Given the description of an element on the screen output the (x, y) to click on. 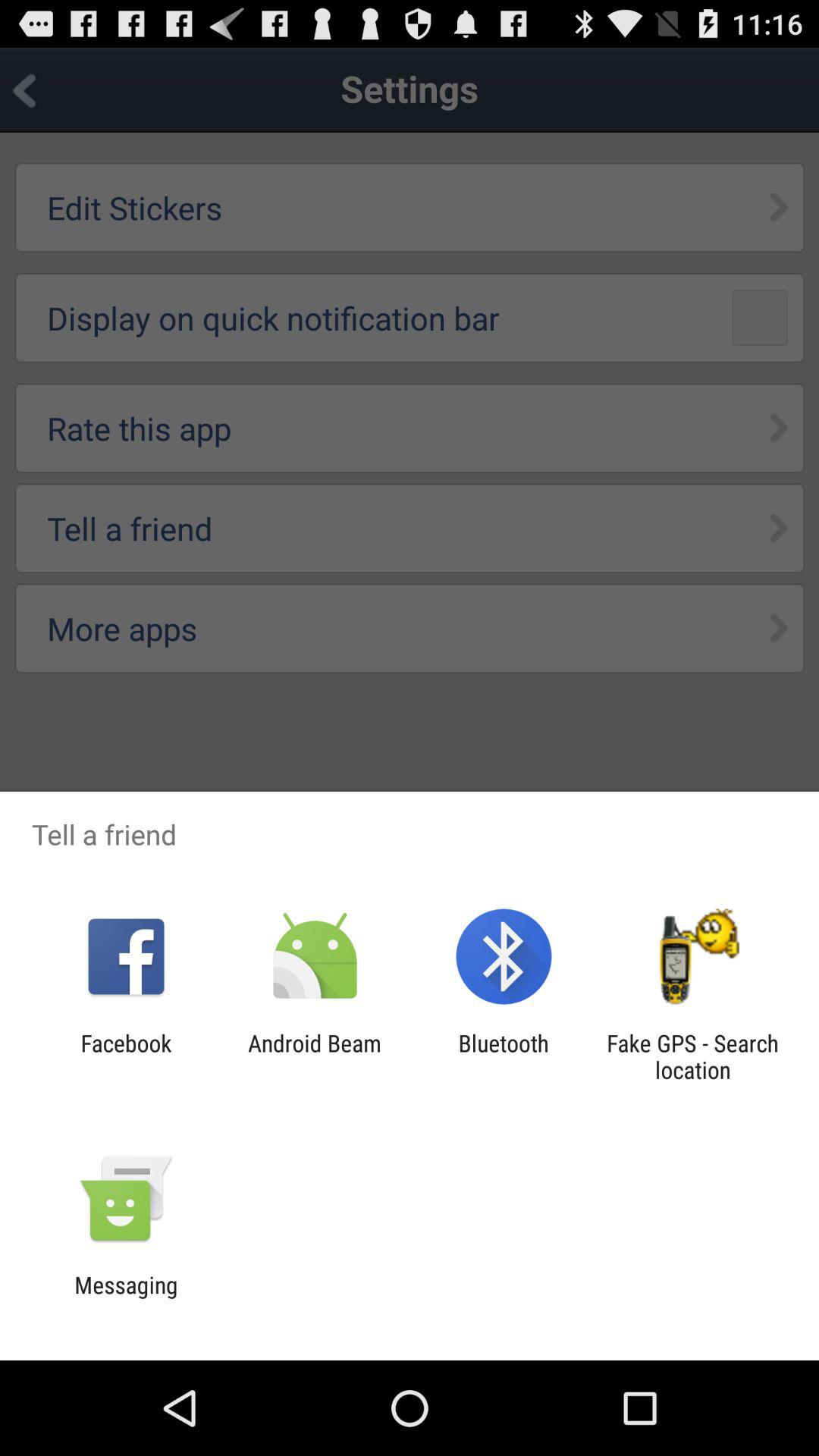
select item to the left of the fake gps search (503, 1056)
